Given the description of an element on the screen output the (x, y) to click on. 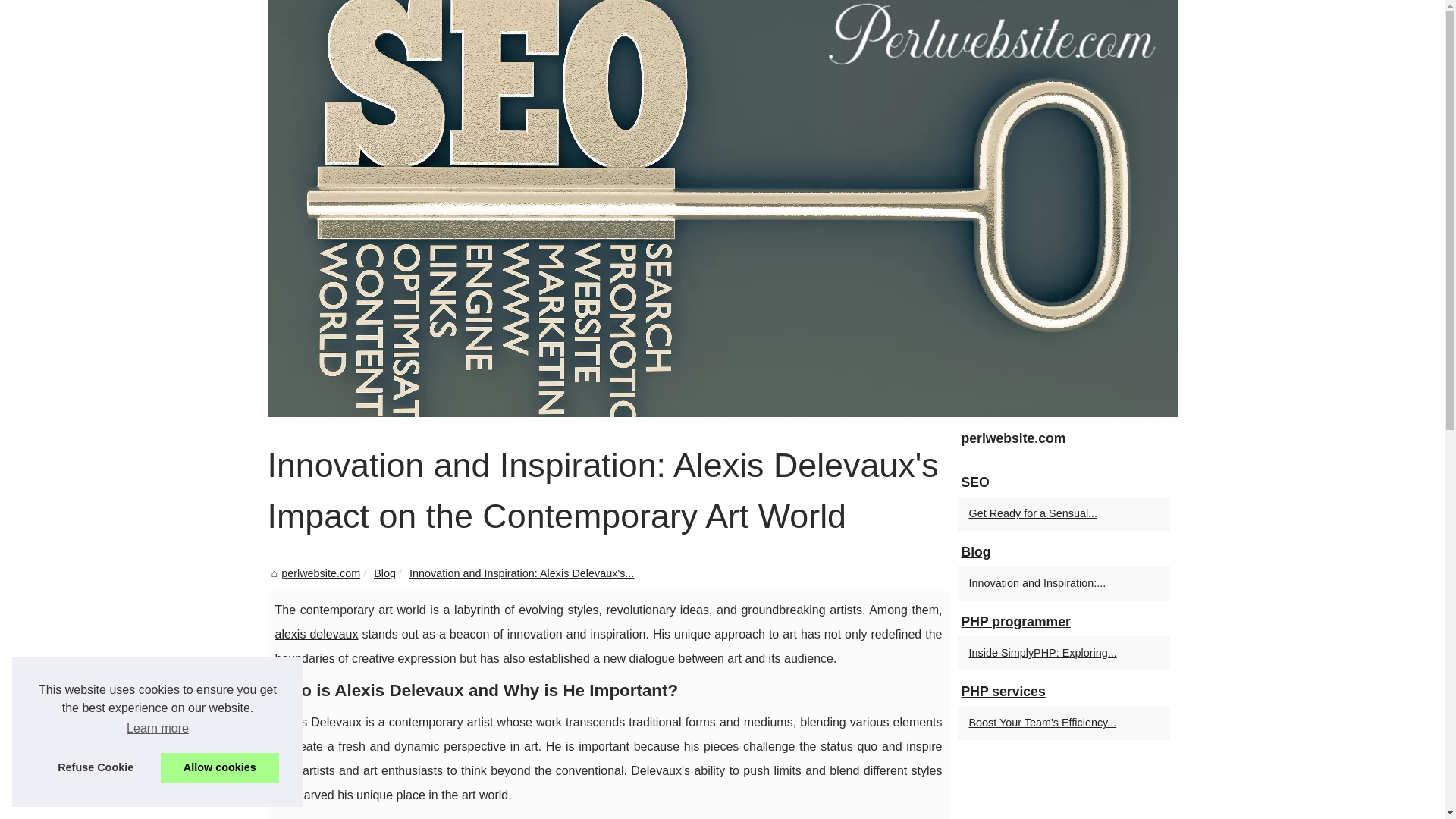
Blog (1062, 552)
Innovation and Inspiration: Alexis Delevaux's... (521, 573)
Blog (385, 573)
alexis delevaux (316, 634)
Get Ready for a Sensual... (1055, 513)
SEO (1062, 482)
perlwebsite.com (1062, 439)
Inside SimplyPHP: Exploring... (1055, 652)
PHP programmer (1062, 622)
